Given the description of an element on the screen output the (x, y) to click on. 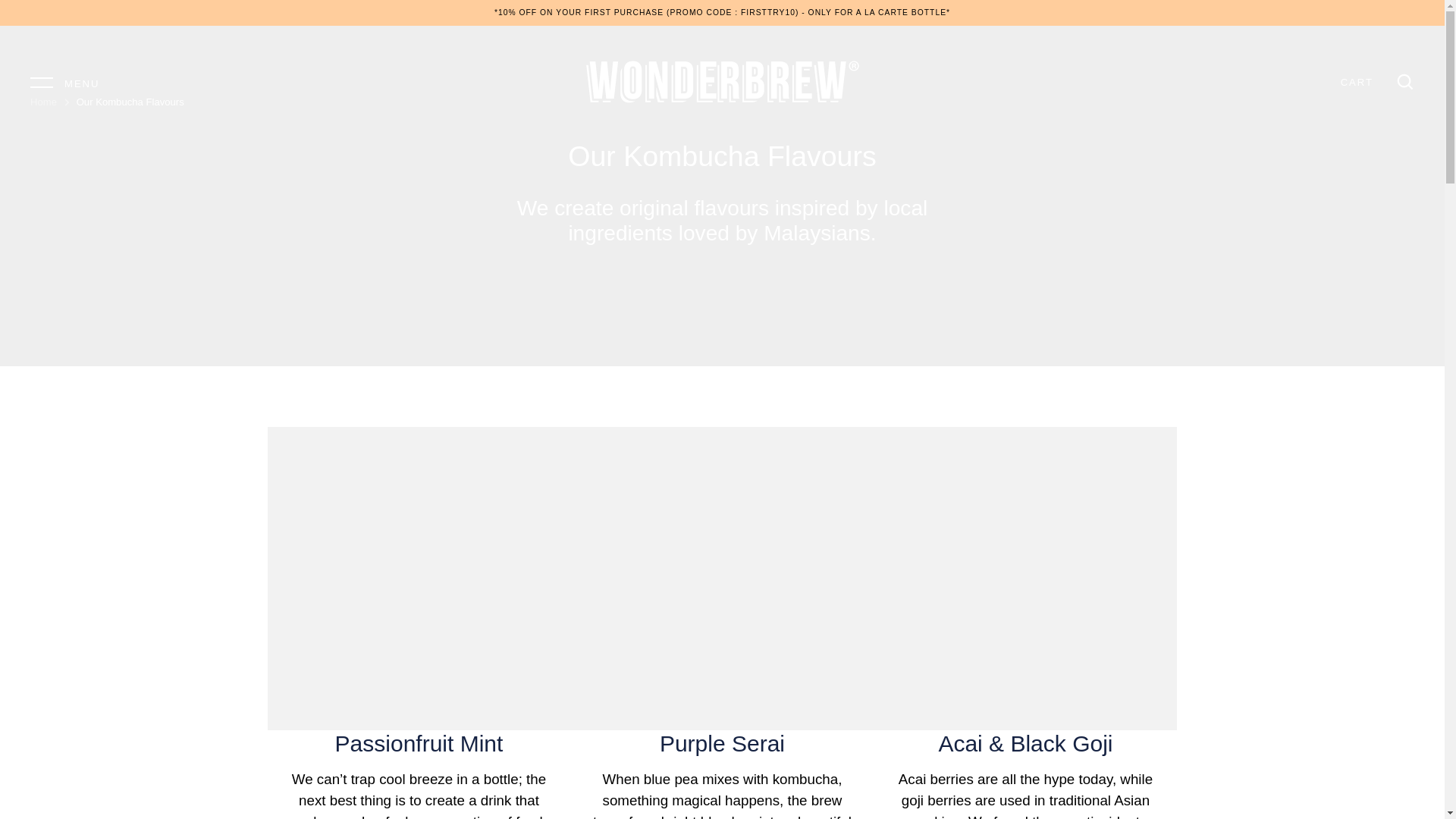
Home (43, 101)
CART (1356, 81)
MENU (64, 81)
